Given the description of an element on the screen output the (x, y) to click on. 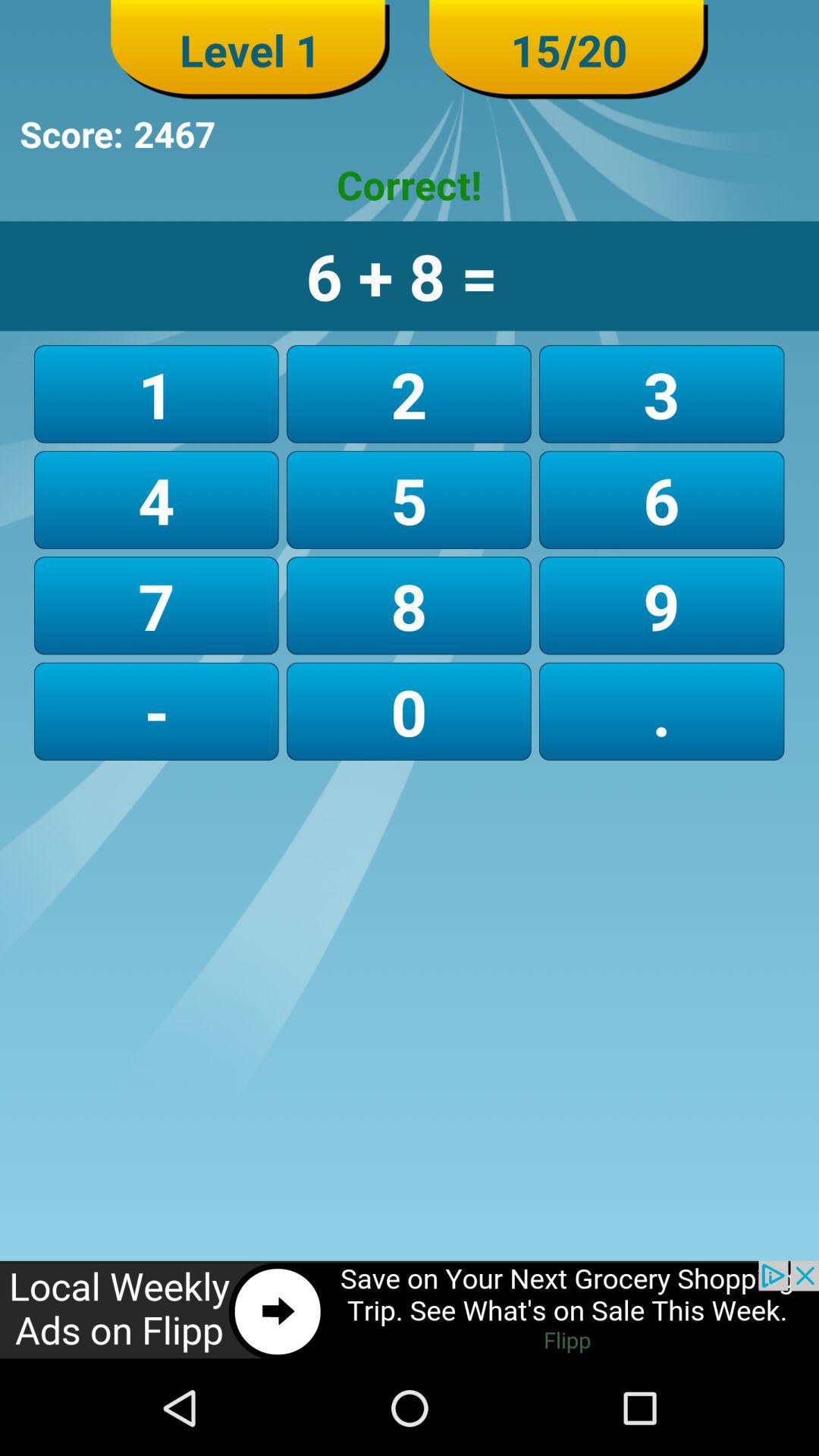
turn off item next to 5 item (156, 605)
